Given the description of an element on the screen output the (x, y) to click on. 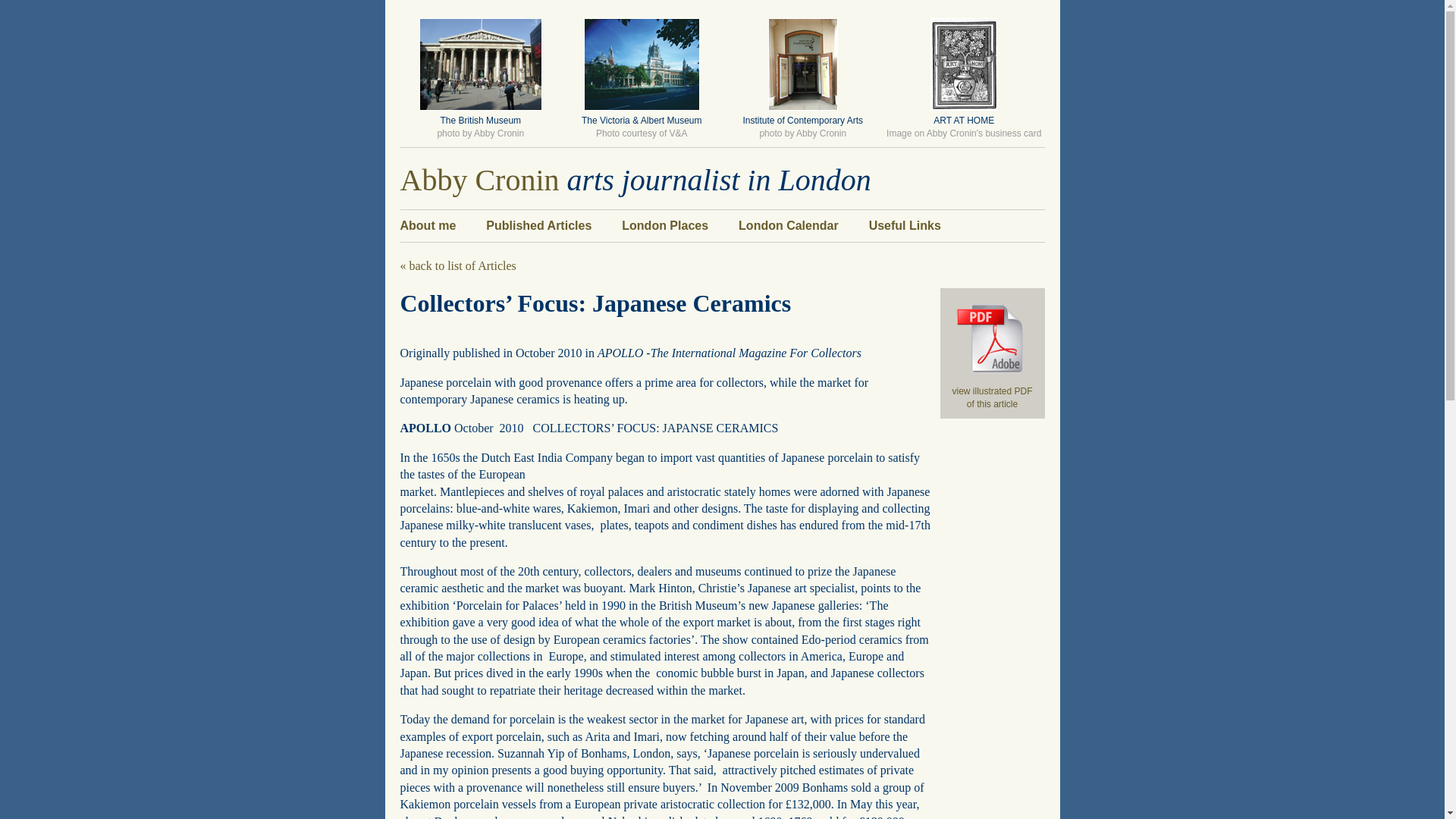
Published Articles (538, 225)
About me (428, 225)
Abby Cronin (479, 179)
